Given the description of an element on the screen output the (x, y) to click on. 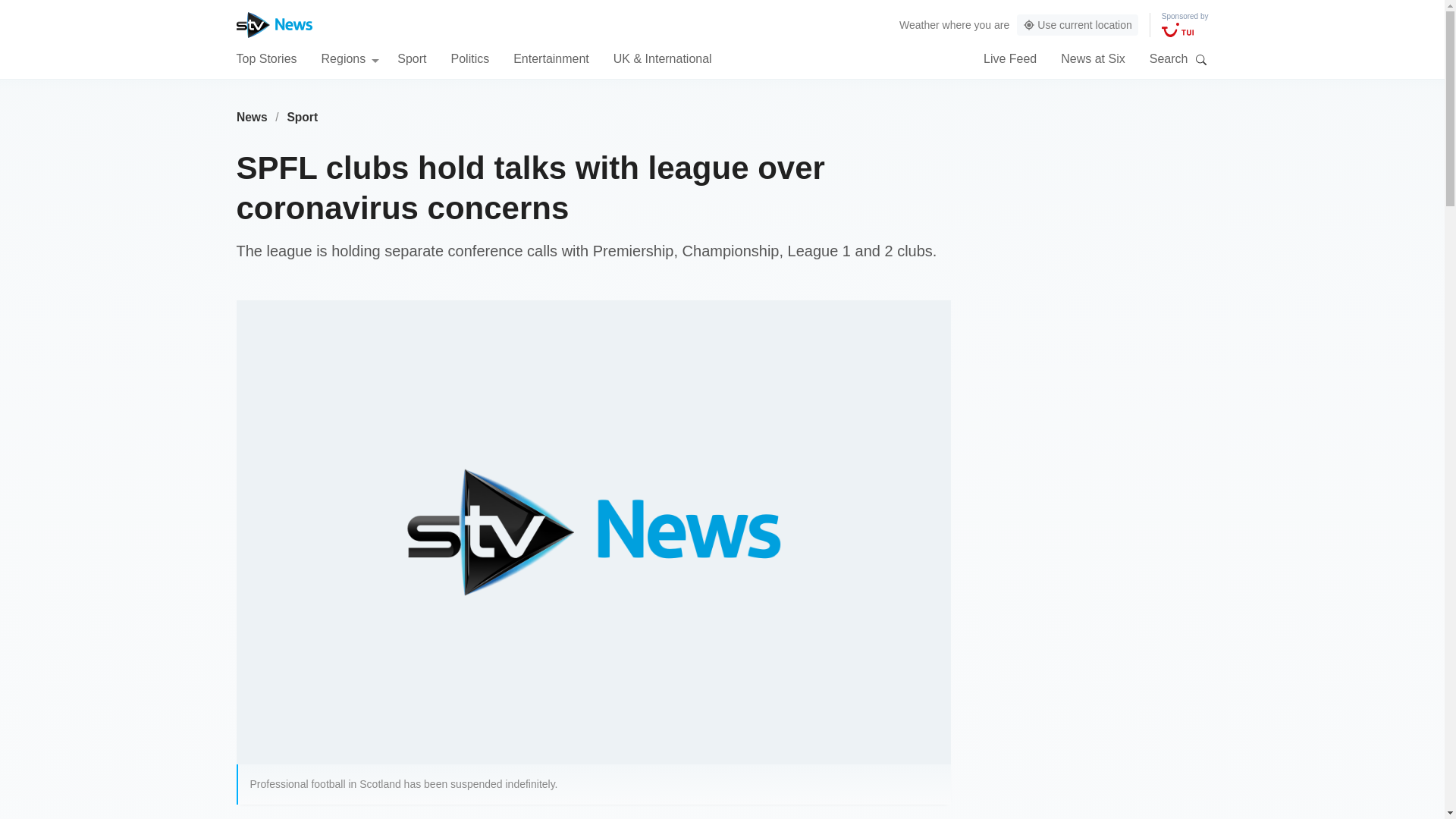
News at Six (1092, 57)
Politics (469, 57)
Regions (350, 57)
Entertainment (551, 57)
Sport (302, 116)
Search (1201, 59)
News (252, 116)
Live Feed (1010, 57)
Weather (919, 24)
Top Stories (266, 57)
Use current location (1077, 25)
